Given the description of an element on the screen output the (x, y) to click on. 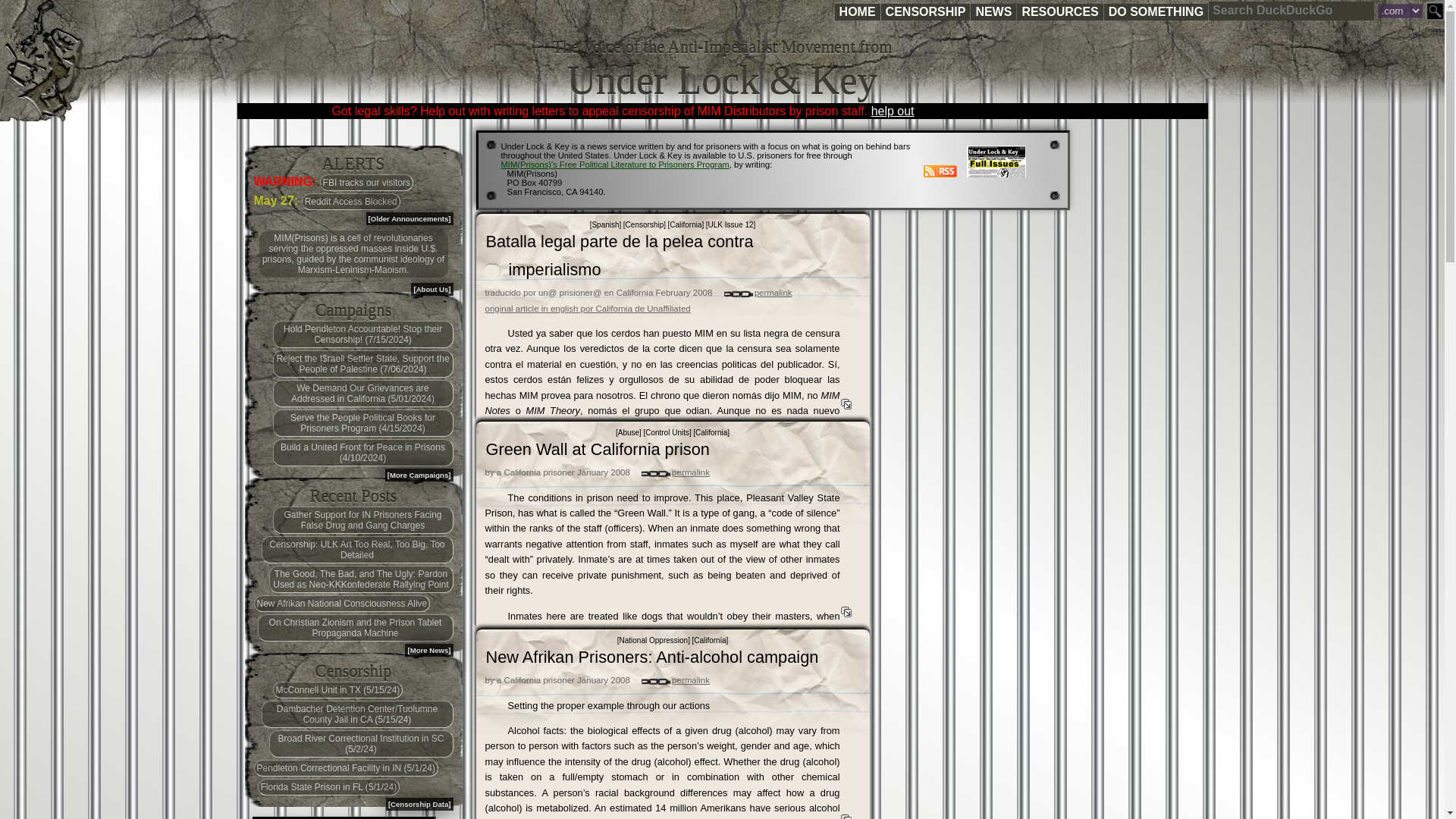
FBI tracks our visitors (366, 182)
Reddit Access Blocked (350, 201)
NEWS (993, 12)
HOME (857, 12)
DO SOMETHING (1155, 12)
help out (892, 110)
Censorship: ULK Art Too Real, Too Big, Too Detailed (356, 549)
CENSORSHIP (925, 12)
New Afrikan National Consciousness Alive (341, 603)
RESOURCES (1059, 12)
